Given the description of an element on the screen output the (x, y) to click on. 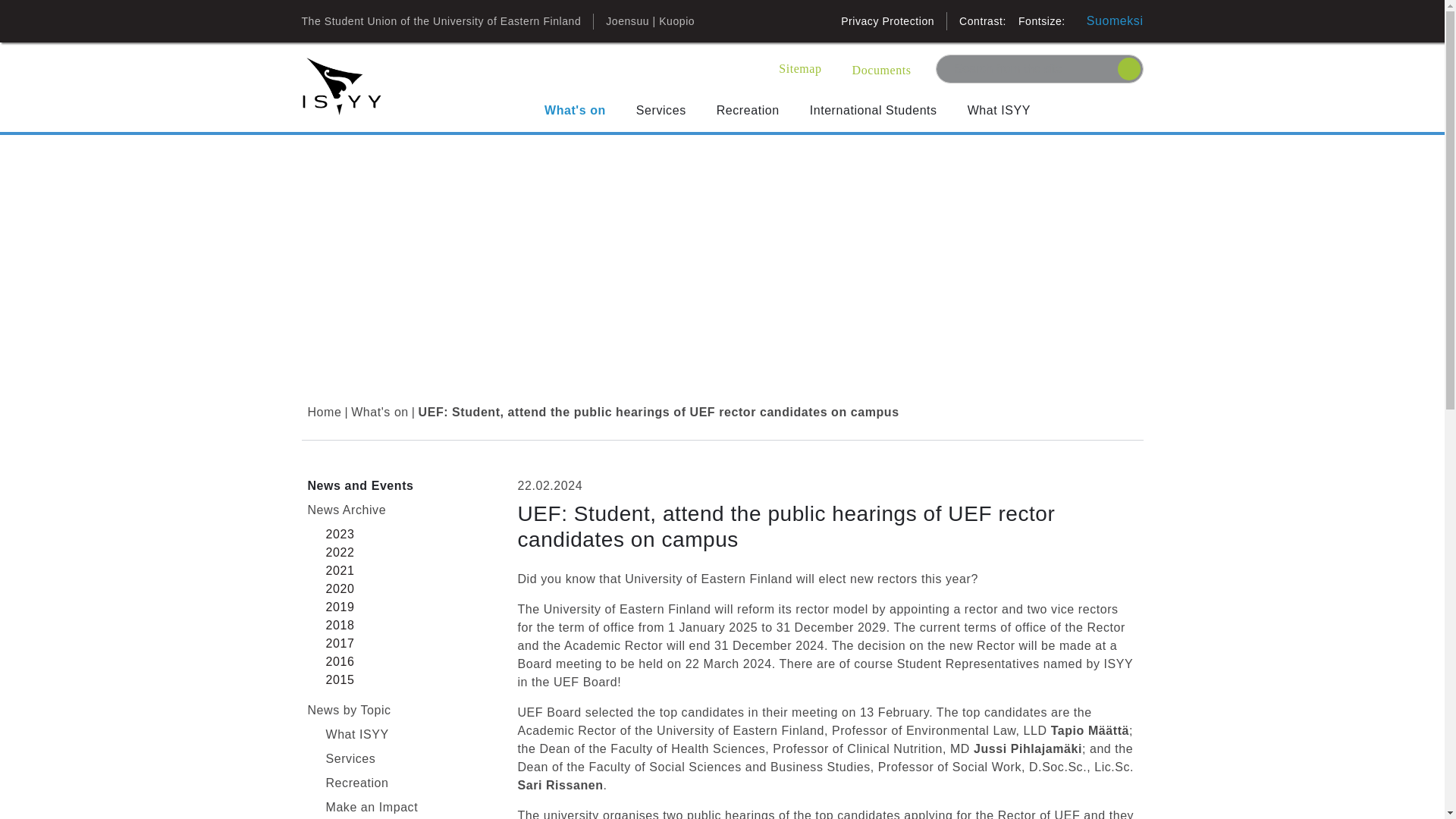
Sitemap (799, 68)
Suomeksi (1114, 21)
Documents (878, 69)
Privacy Protection (887, 21)
Services (664, 110)
What's on (578, 110)
